Given the description of an element on the screen output the (x, y) to click on. 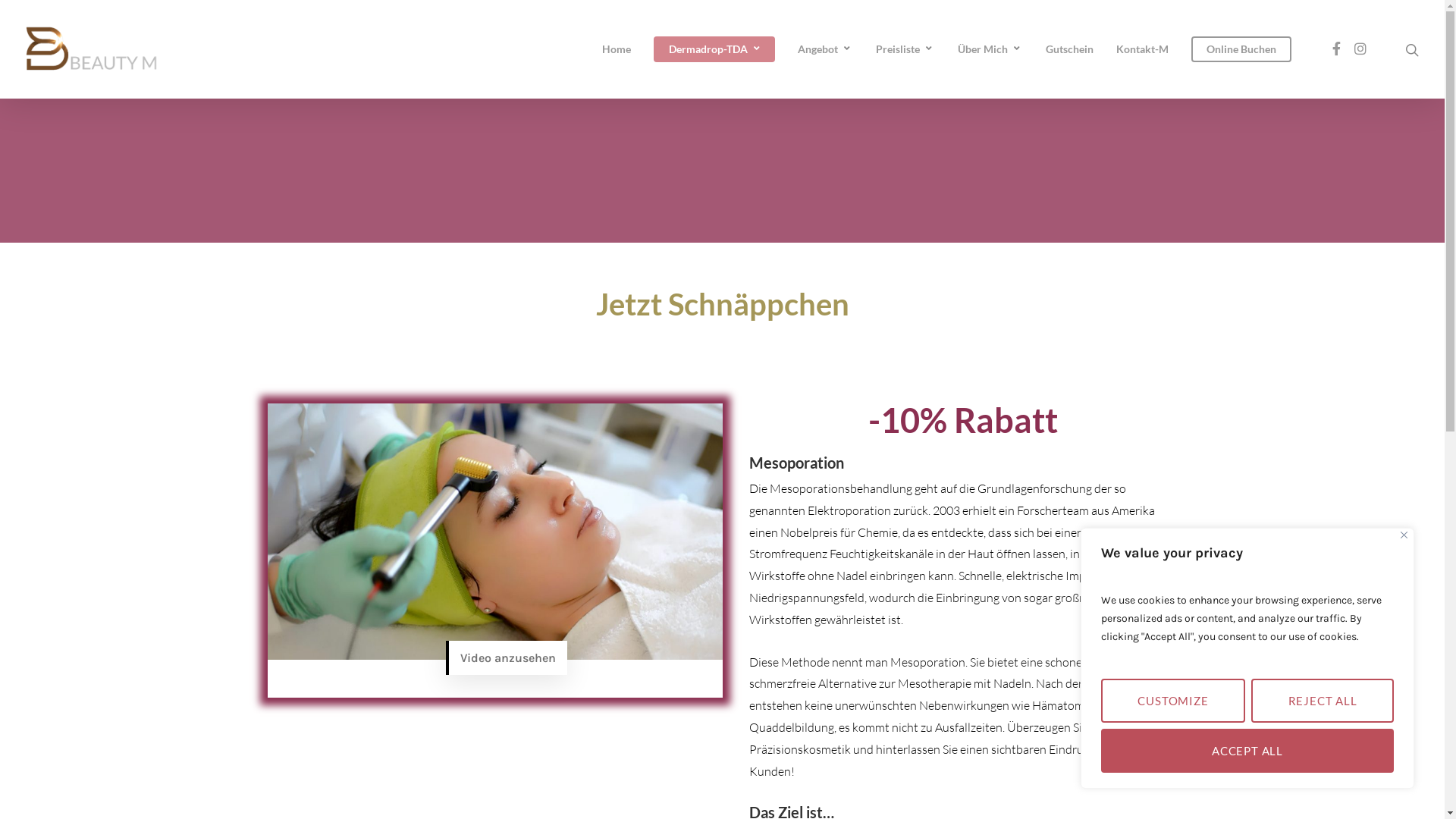
Gutschein Element type: text (1069, 48)
Dermadrop-TDA Element type: text (714, 48)
CUSTOMIZE Element type: text (1173, 700)
Angebot Element type: text (825, 48)
Online Buchen Element type: text (1241, 48)
Rufen Sie uns an 078 602 53 65 Element type: text (651, 495)
REJECT ALL Element type: text (1322, 700)
Home Element type: text (616, 48)
Impressum | Element type: text (258, 553)
marina@beauty-m.ch Element type: text (721, 560)
Cookie Policy Element type: text (416, 553)
ACCEPT ALL Element type: text (1247, 750)
| Element type: text (376, 553)
Privacy Policy Element type: text (333, 553)
Kontakt-M Element type: text (1142, 48)
Preisliste Element type: text (905, 48)
